Given the description of an element on the screen output the (x, y) to click on. 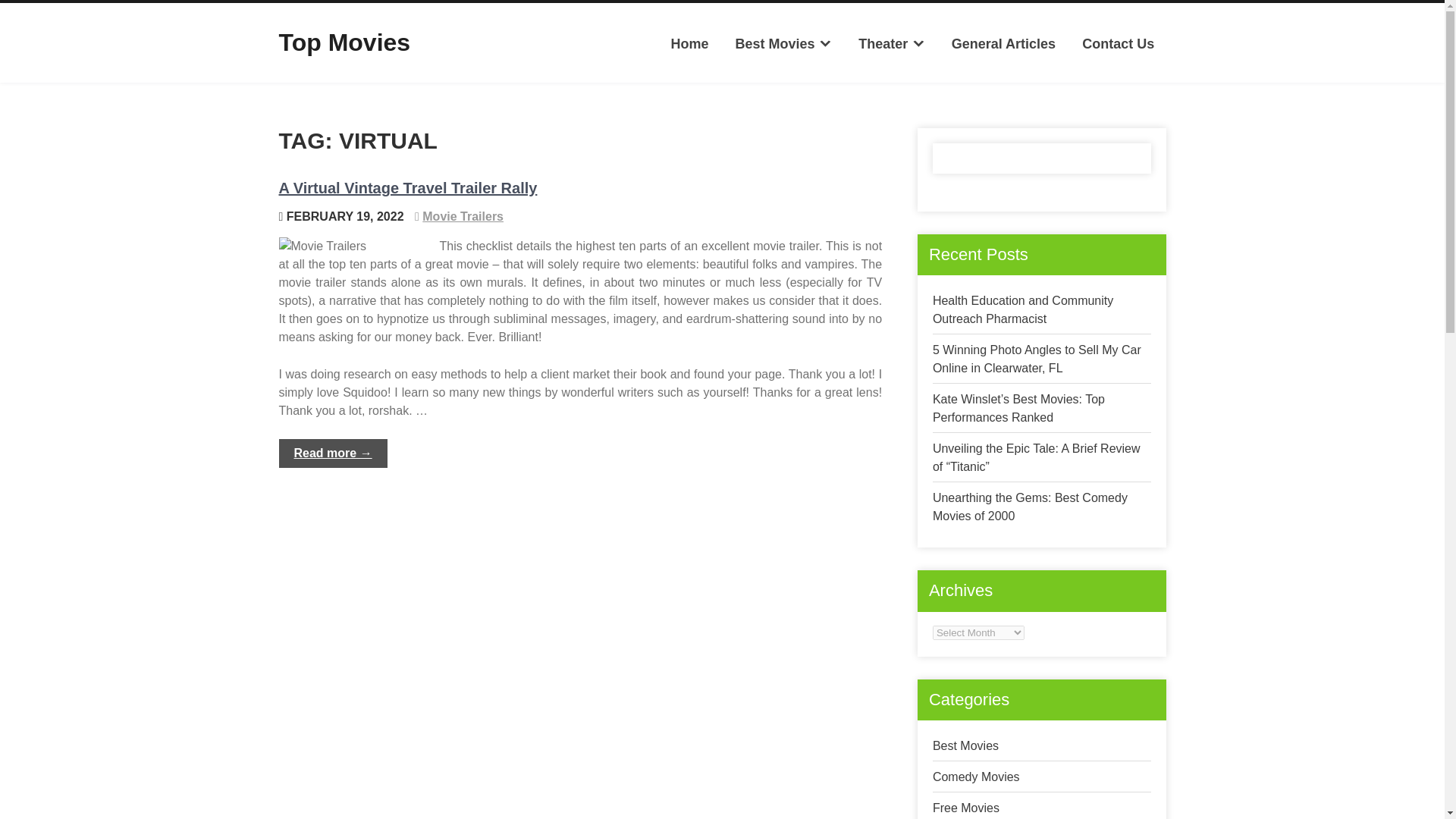
Top Movies (344, 42)
Health Education and Community Outreach Pharmacist (1023, 309)
A Virtual Vintage Travel Trailer Rally (408, 187)
Best Movies (965, 745)
Unearthing the Gems: Best Comedy Movies of 2000 (1029, 506)
Best Movies (783, 44)
Theater (891, 44)
Home (689, 44)
Contact Us (1118, 44)
Movie Trailers (462, 215)
Free Movies (965, 807)
Comedy Movies (976, 776)
General Articles (1003, 44)
